Given the description of an element on the screen output the (x, y) to click on. 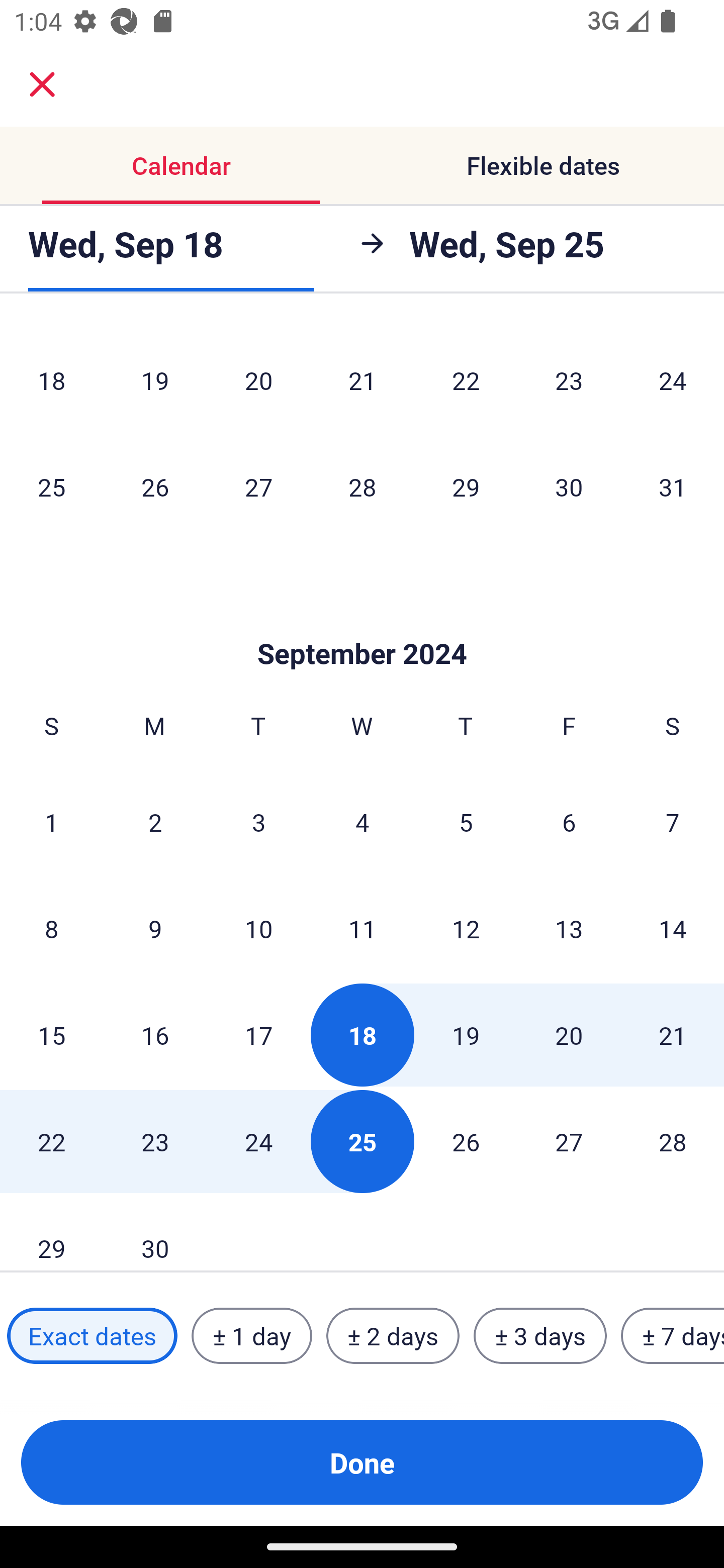
close. (42, 84)
Flexible dates (542, 164)
18 Sunday, August 18, 2024 (51, 380)
19 Monday, August 19, 2024 (155, 380)
20 Tuesday, August 20, 2024 (258, 380)
21 Wednesday, August 21, 2024 (362, 380)
22 Thursday, August 22, 2024 (465, 380)
23 Friday, August 23, 2024 (569, 380)
24 Saturday, August 24, 2024 (672, 380)
25 Sunday, August 25, 2024 (51, 486)
26 Monday, August 26, 2024 (155, 486)
27 Tuesday, August 27, 2024 (258, 486)
28 Wednesday, August 28, 2024 (362, 486)
29 Thursday, August 29, 2024 (465, 486)
30 Friday, August 30, 2024 (569, 486)
31 Saturday, August 31, 2024 (672, 486)
Skip to Done (362, 623)
1 Sunday, September 1, 2024 (51, 821)
2 Monday, September 2, 2024 (155, 821)
3 Tuesday, September 3, 2024 (258, 821)
4 Wednesday, September 4, 2024 (362, 821)
5 Thursday, September 5, 2024 (465, 821)
6 Friday, September 6, 2024 (569, 821)
7 Saturday, September 7, 2024 (672, 821)
8 Sunday, September 8, 2024 (51, 928)
9 Monday, September 9, 2024 (155, 928)
10 Tuesday, September 10, 2024 (258, 928)
11 Wednesday, September 11, 2024 (362, 928)
12 Thursday, September 12, 2024 (465, 928)
13 Friday, September 13, 2024 (569, 928)
14 Saturday, September 14, 2024 (672, 928)
15 Sunday, September 15, 2024 (51, 1034)
16 Monday, September 16, 2024 (155, 1034)
17 Tuesday, September 17, 2024 (258, 1034)
26 Thursday, September 26, 2024 (465, 1141)
27 Friday, September 27, 2024 (569, 1141)
28 Saturday, September 28, 2024 (672, 1141)
29 Sunday, September 29, 2024 (51, 1233)
30 Monday, September 30, 2024 (155, 1233)
Exact dates (92, 1335)
± 1 day (251, 1335)
± 2 days (392, 1335)
± 3 days (539, 1335)
± 7 days (672, 1335)
Done (361, 1462)
